Given the description of an element on the screen output the (x, y) to click on. 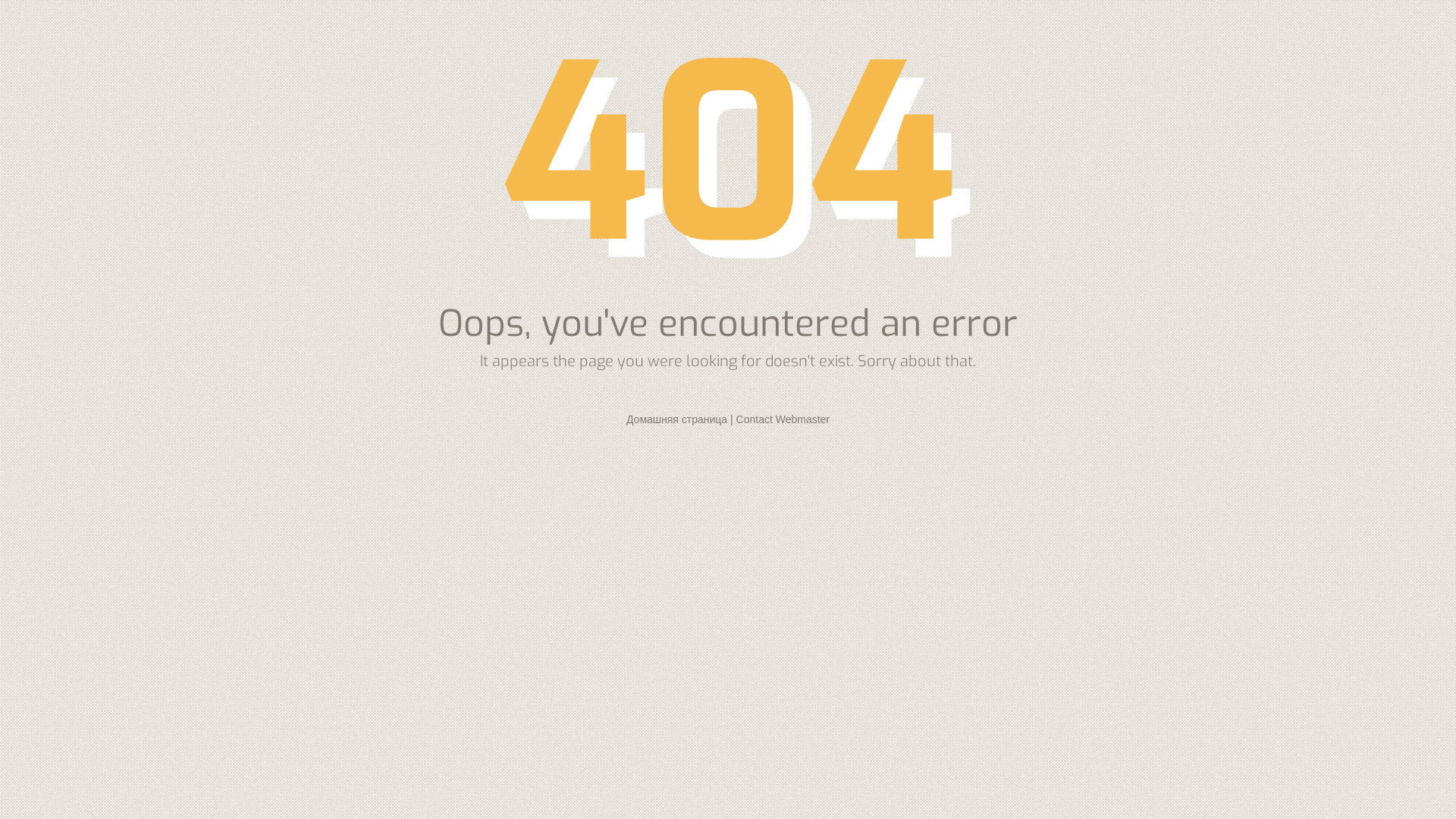
Contact Webmaster Element type: text (782, 419)
